Given the description of an element on the screen output the (x, y) to click on. 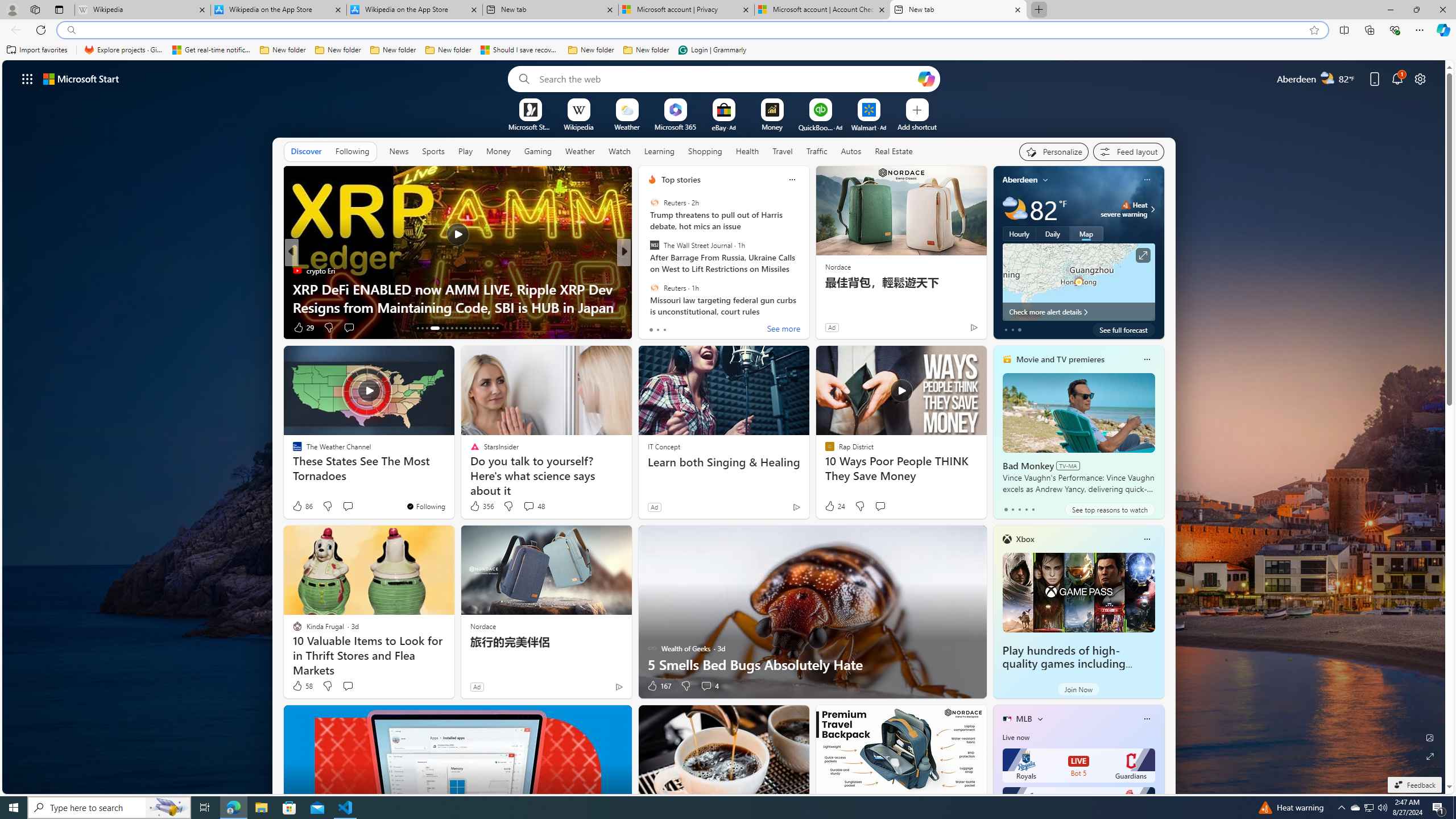
AutomationID: tab-27 (488, 328)
View comments 48 Comment (528, 505)
Reader's Digest (647, 270)
356 Like (480, 505)
T3 (647, 270)
AutomationID: tab-18 (446, 328)
AutomationID: tab-19 (451, 328)
Nordace (483, 625)
34 Like (652, 327)
58 Like (301, 685)
IT Concept (663, 446)
See top reasons to watch (1109, 509)
Start the conversation (347, 685)
